Given the description of an element on the screen output the (x, y) to click on. 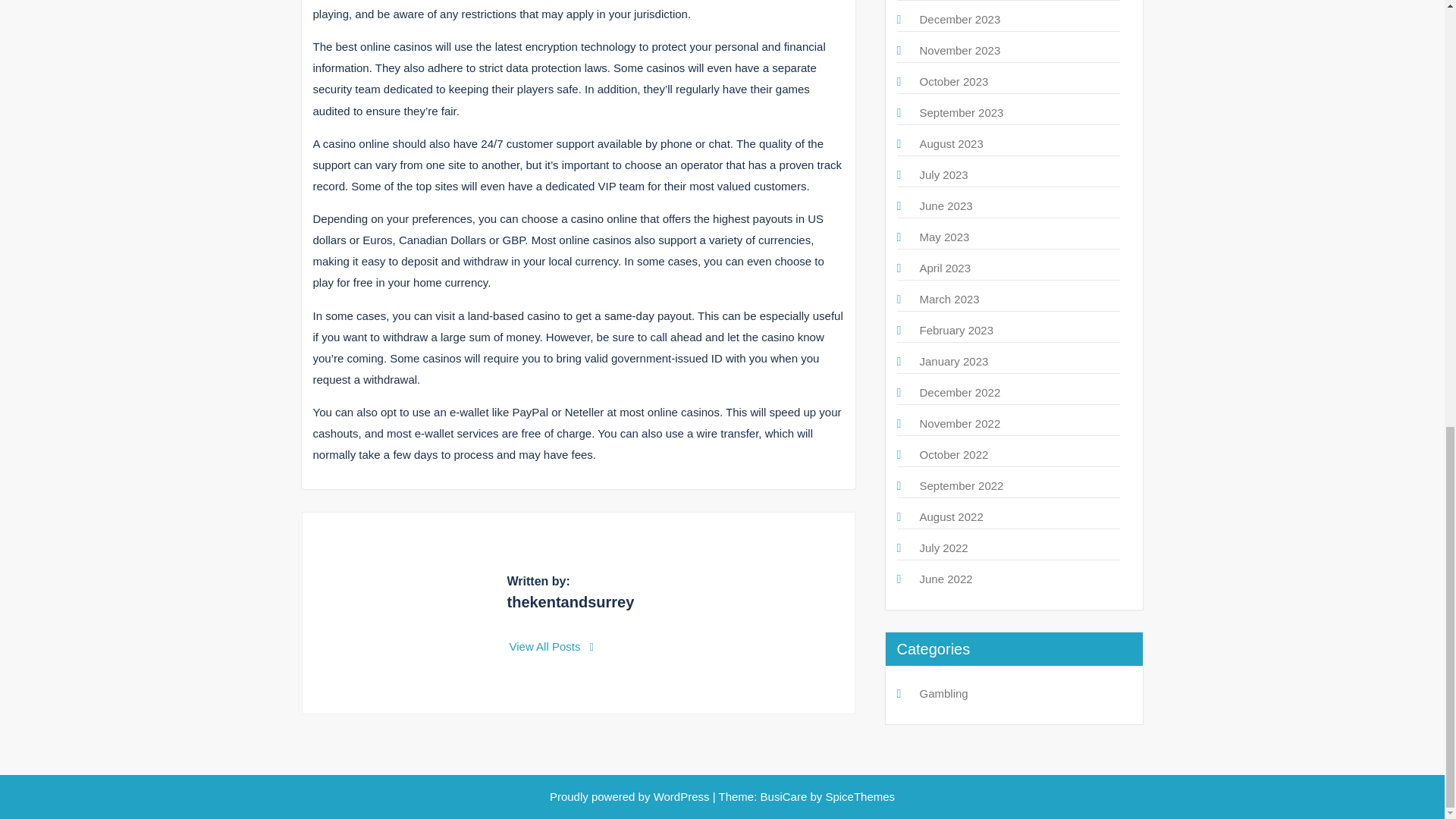
WordPress (681, 796)
October 2023 (953, 81)
August 2023 (950, 143)
September 2022 (960, 485)
July 2022 (943, 547)
January 2023 (953, 360)
September 2023 (960, 112)
July 2023 (943, 174)
Gambling (943, 693)
August 2022 (950, 516)
June 2022 (945, 578)
December 2023 (959, 19)
View All Posts (551, 645)
November 2022 (959, 422)
December 2022 (959, 391)
